Given the description of an element on the screen output the (x, y) to click on. 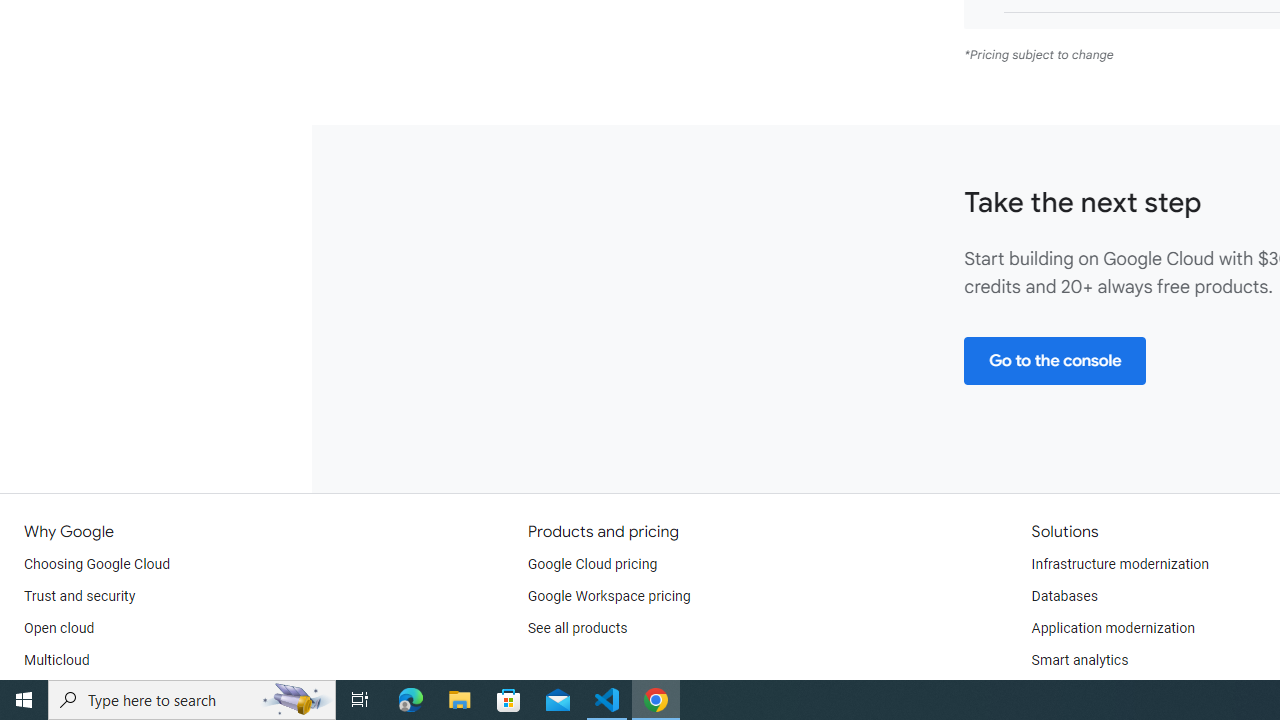
Smart analytics (1079, 659)
Infrastructure modernization (1119, 564)
Choosing Google Cloud (97, 564)
Databases (1064, 596)
See all products (577, 628)
Google Cloud pricing (592, 564)
Open cloud (59, 628)
Application modernization (1112, 628)
Multicloud (56, 659)
Artificial Intelligence (1094, 692)
Go to the console (1054, 360)
Trust and security (79, 596)
Google Workspace pricing (609, 596)
Global infrastructure (88, 692)
